Given the description of an element on the screen output the (x, y) to click on. 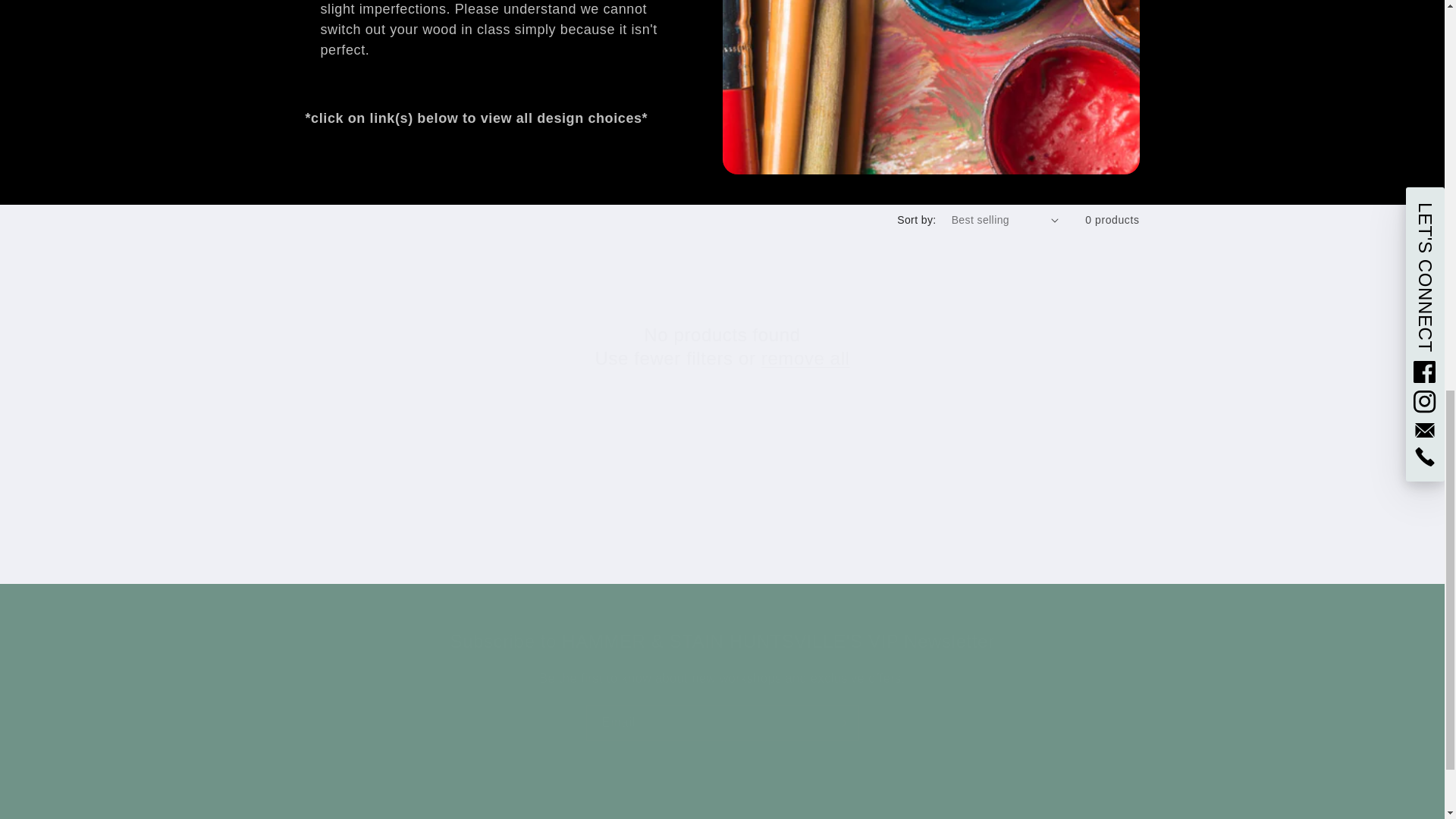
Email (722, 723)
